Given the description of an element on the screen output the (x, y) to click on. 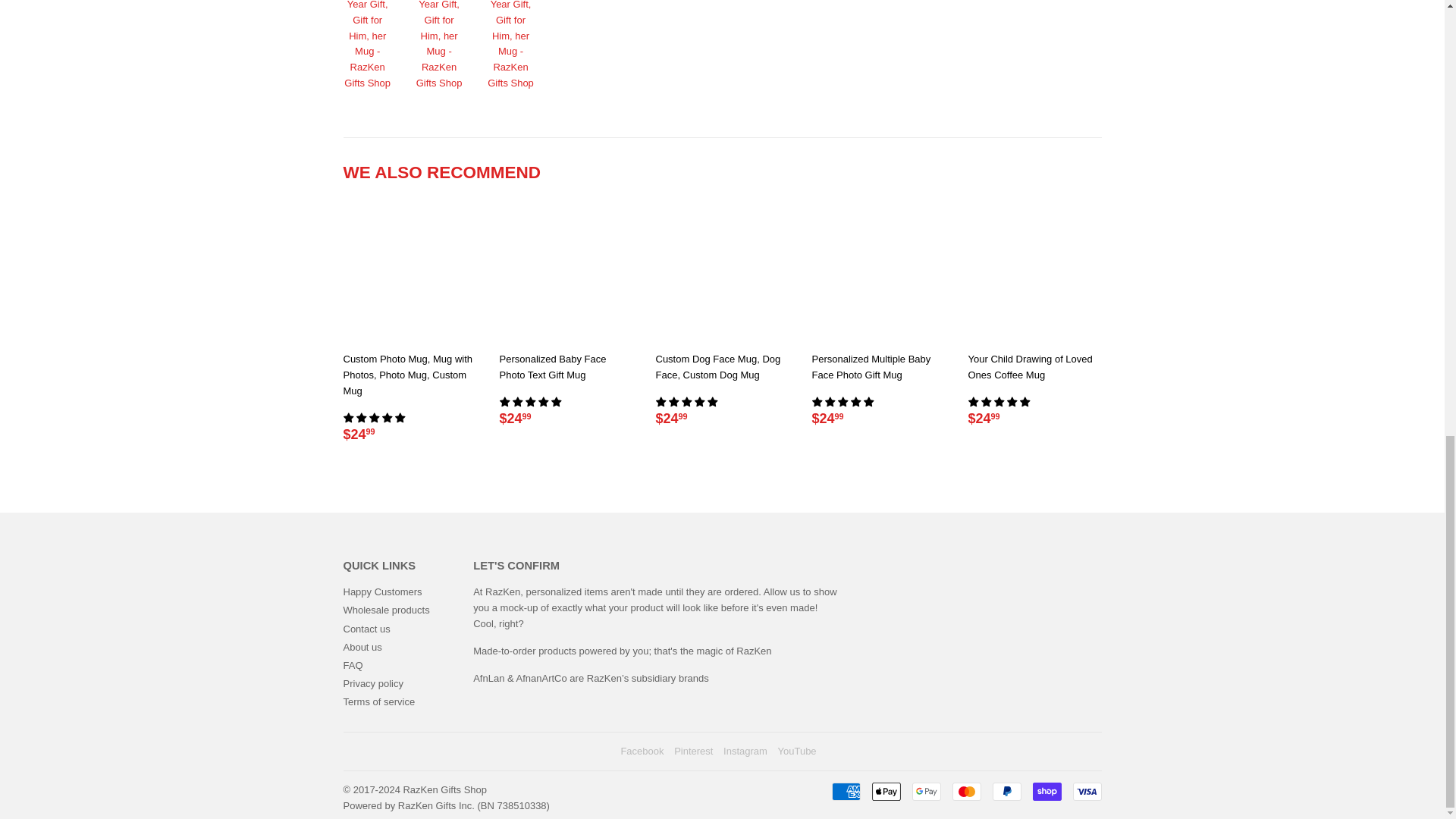
Shop Pay (1046, 791)
Visa (1085, 791)
American Express (845, 791)
PayPal (1005, 791)
Apple Pay (886, 791)
Google Pay (925, 791)
RazKen Gifts Shop on YouTube (796, 750)
RazKen Gifts Shop on Pinterest (693, 750)
RazKen Gifts Shop on Facebook (641, 750)
RazKen Gifts Shop on Instagram (745, 750)
